Given the description of an element on the screen output the (x, y) to click on. 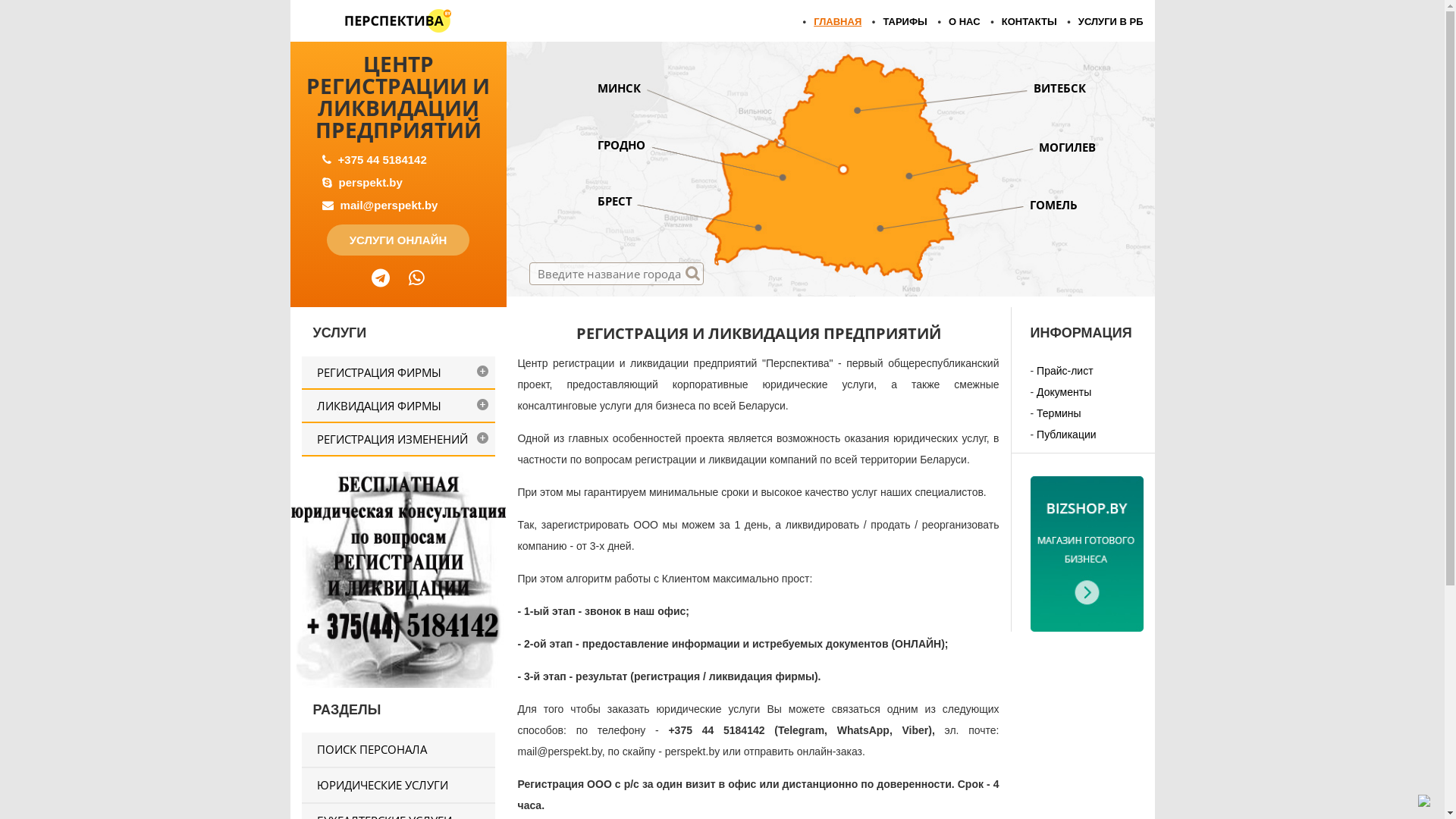
Go Top Element type: hover (1424, 799)
perspekt.by Element type: text (370, 181)
mail@perspekt.by Element type: text (389, 204)
